Given the description of an element on the screen output the (x, y) to click on. 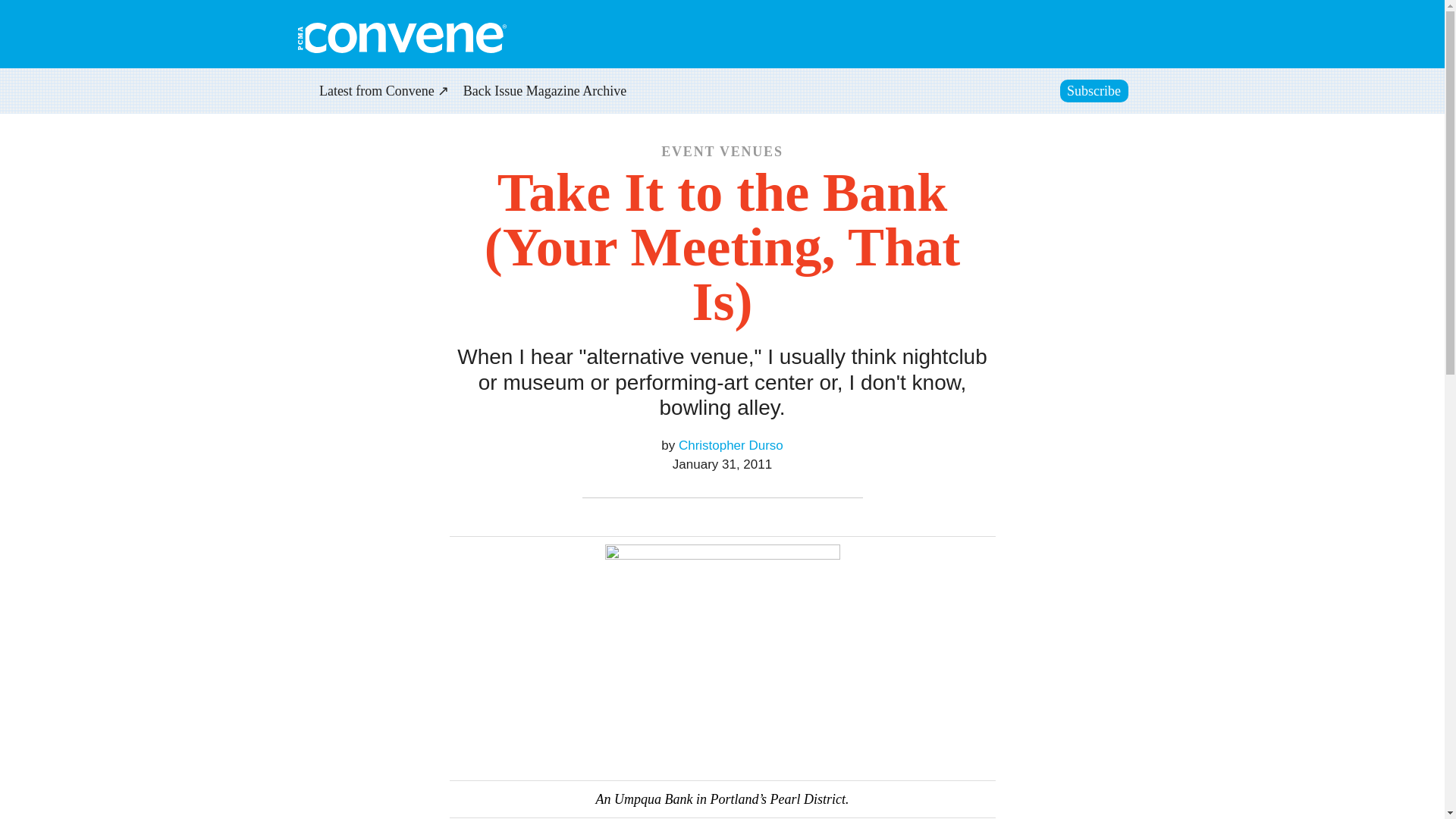
Subscribe (1093, 90)
Back Issue Magazine Archive (544, 92)
PCMA CONVENE (401, 37)
Posts by Christopher Durso (730, 445)
Christopher Durso (730, 445)
PCMA Convene (401, 37)
